Given the description of an element on the screen output the (x, y) to click on. 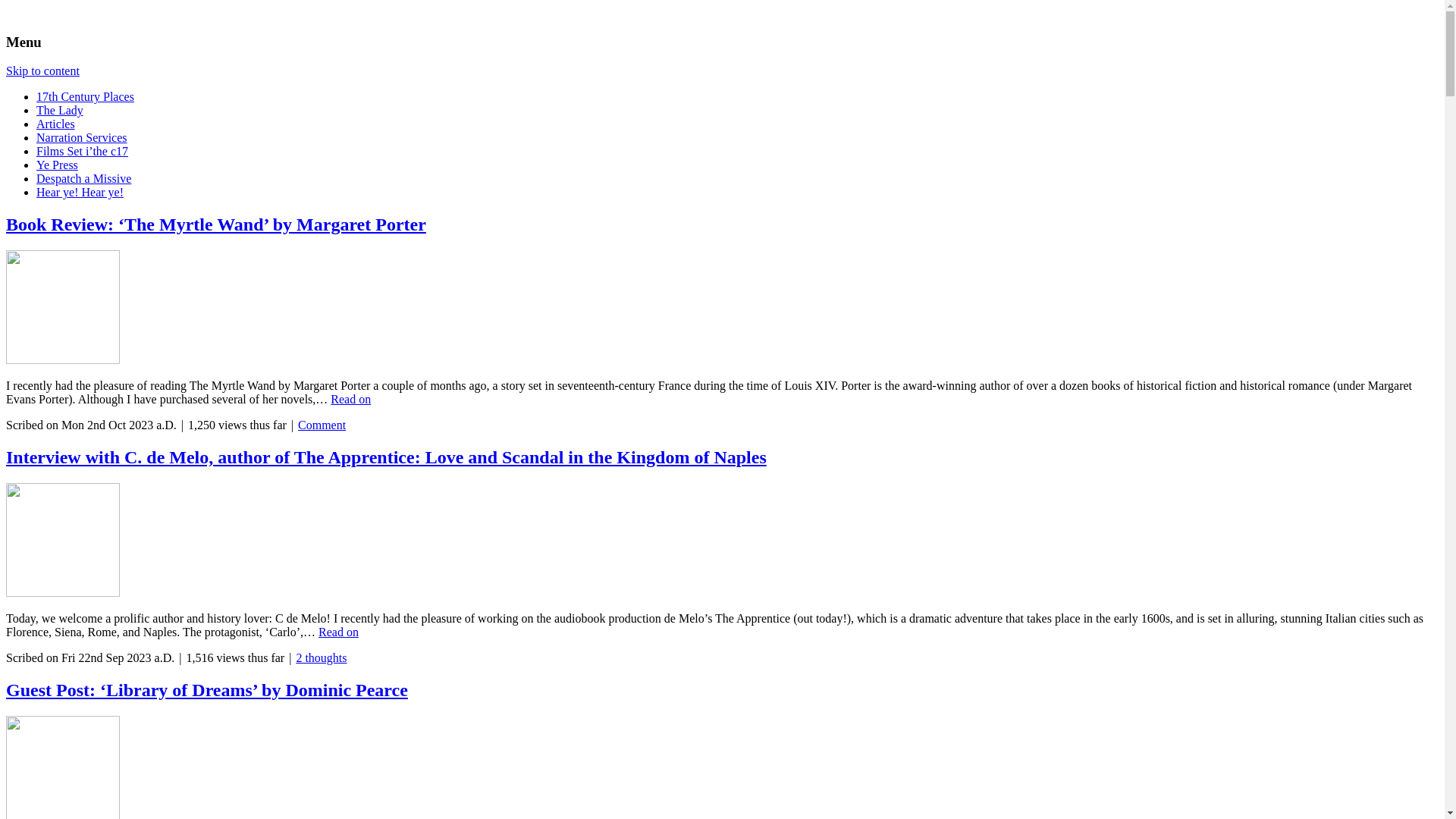
Hear ye! Hear ye! Element type: text (79, 191)
Ye Press Element type: text (57, 164)
Despatch a Missive Element type: text (83, 178)
Narration Services Element type: text (81, 137)
2 thoughts Element type: text (320, 657)
The Lady Element type: text (59, 109)
Read on Element type: text (350, 398)
Read on Element type: text (338, 631)
Articles Element type: text (55, 123)
17th Century Places Element type: text (85, 96)
Comment Element type: text (321, 424)
Skip to content Element type: text (42, 70)
